Given the description of an element on the screen output the (x, y) to click on. 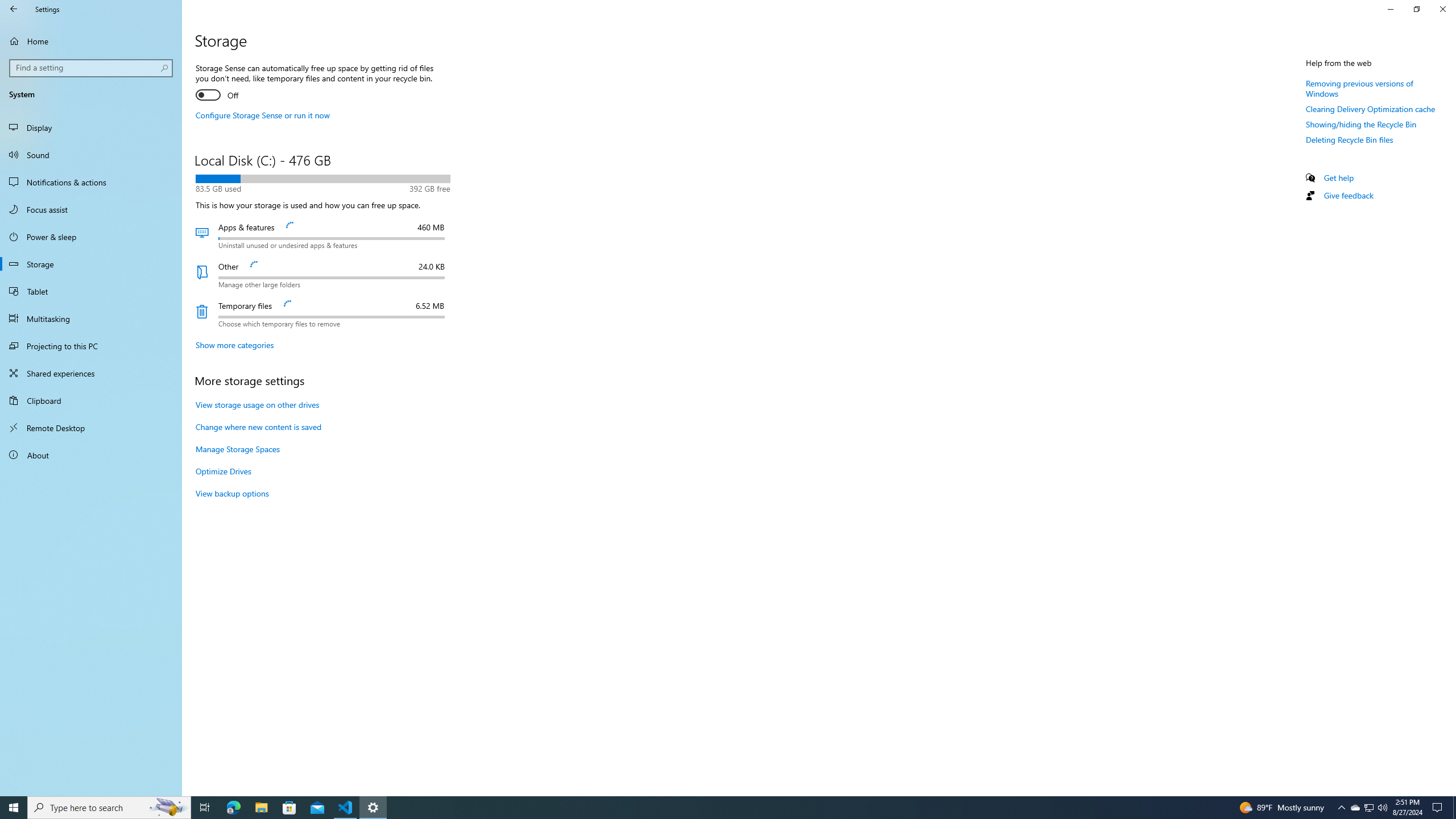
Type here to search (108, 807)
Minimize Settings (1390, 9)
View storage usage on other drives (257, 404)
User Promoted Notification Area (1368, 807)
Restore Settings (1416, 9)
Give feedback (1348, 195)
Task View (204, 807)
Temporary files (322, 314)
View backup options (232, 493)
Configure Storage Sense or run it now (1368, 807)
Projecting to this PC (262, 114)
Deleting Recycle Bin files (91, 345)
